Given the description of an element on the screen output the (x, y) to click on. 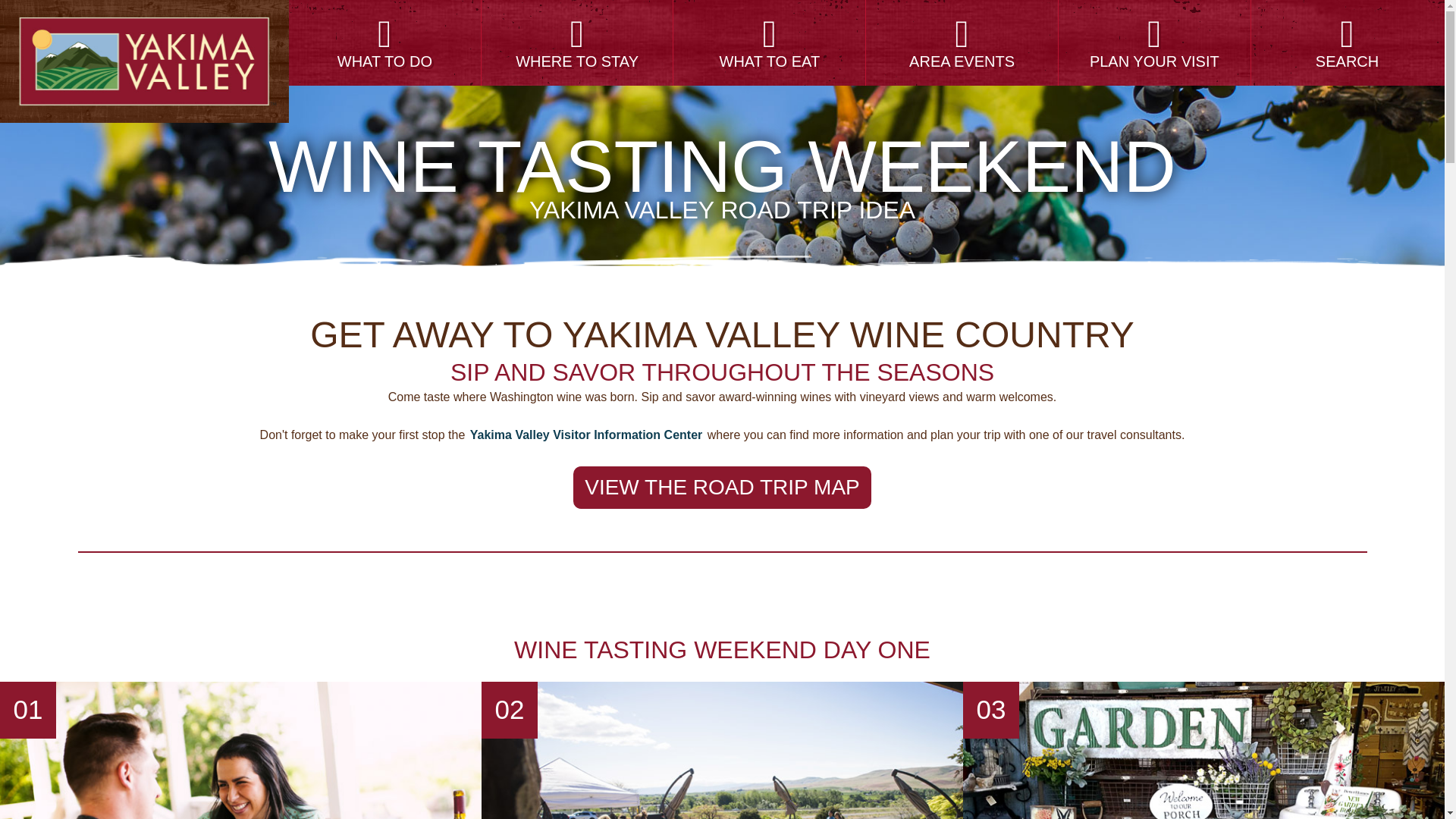
SEARCH (1347, 42)
Yakima Valley Seasonal Activites, Maps, Tours and Guides (1154, 42)
AREA EVENTS (962, 42)
WHAT TO DO (384, 42)
Yakima Valley Attractions and Activities (384, 42)
Search the Yakima Valley Tourism Website (1347, 42)
PLAN YOUR VISIT (1154, 42)
Yakima Valley Events and Festivals (962, 42)
VIEW THE ROAD TRIP MAP (721, 486)
Yakima Valley Visitor Information Center (585, 434)
